Given the description of an element on the screen output the (x, y) to click on. 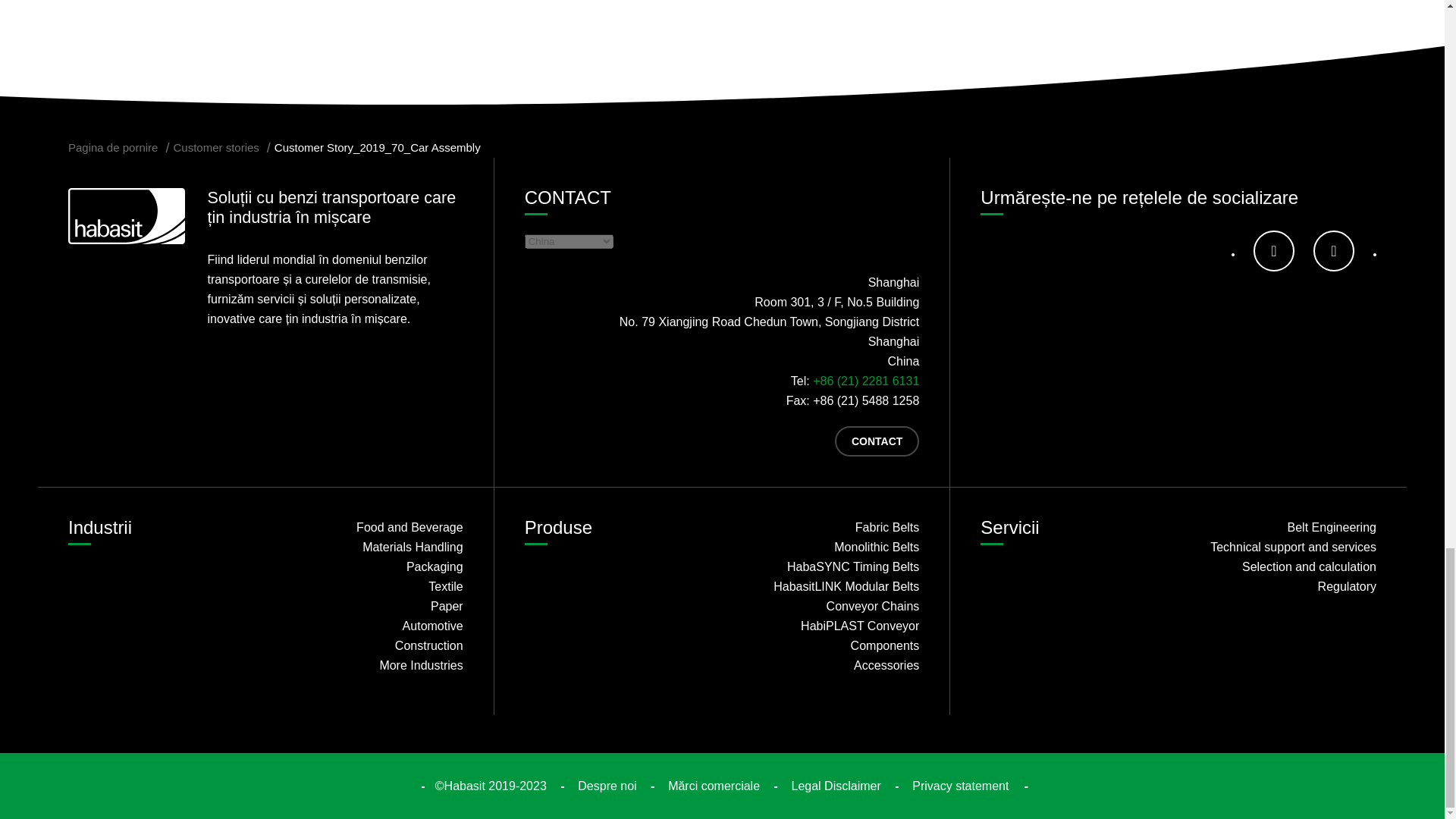
Packaging (369, 567)
Materials Handling (369, 547)
CONTACT (876, 440)
Paper (369, 606)
Regulatory (1282, 587)
Pagina de pornire (112, 146)
Customer stories (216, 146)
Food and Beverage (369, 527)
Construction (369, 646)
HabasitLINK Modular Belts (825, 587)
Fabric Belts (825, 527)
Monolithic Belts (825, 547)
Customer stories (216, 146)
Textile (369, 587)
Despre noi (607, 785)
